Given the description of an element on the screen output the (x, y) to click on. 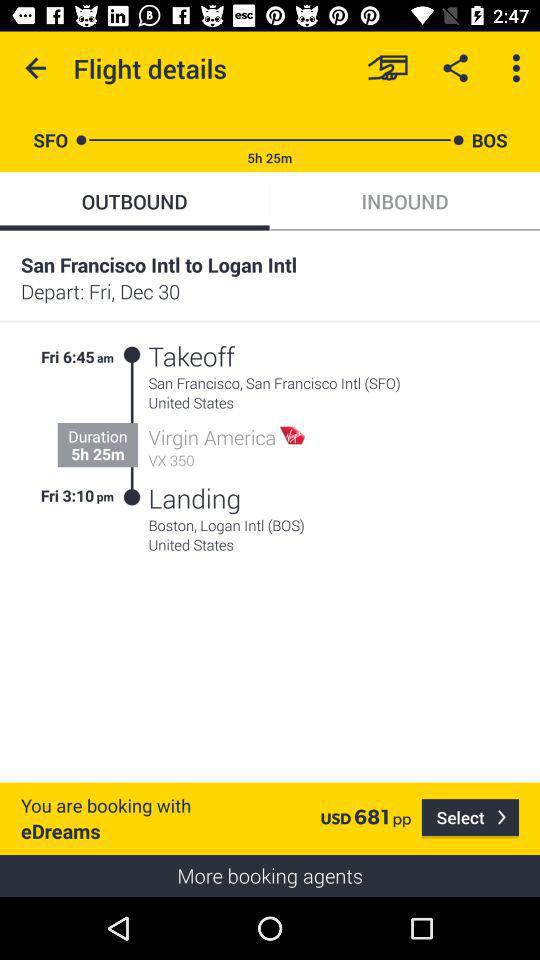
turn off the icon above duration icon (106, 354)
